Given the description of an element on the screen output the (x, y) to click on. 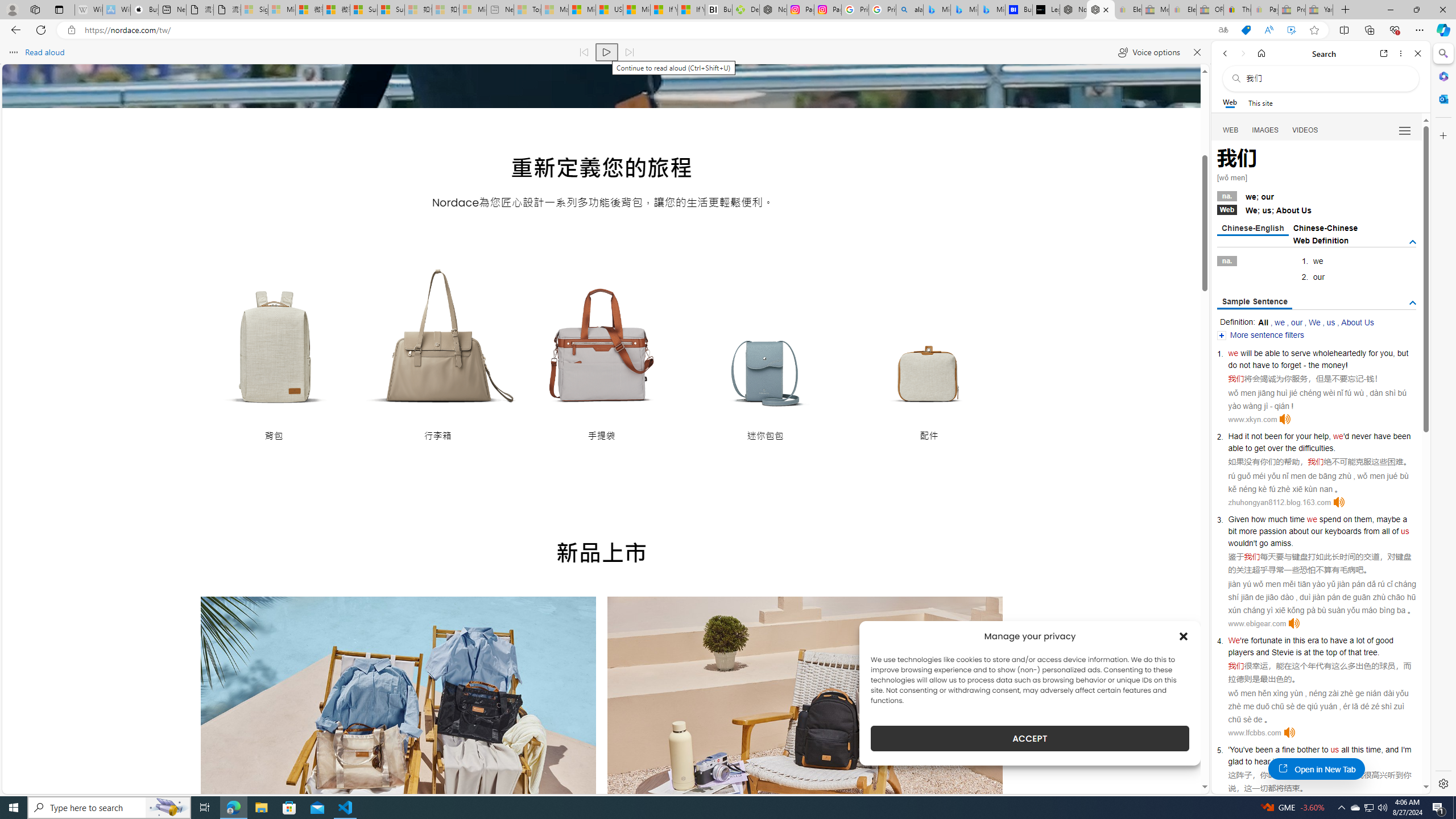
be (1258, 352)
US Heat Deaths Soared To Record High Last Year (609, 9)
for (1372, 352)
Class: cmplz-close (1183, 636)
We (1233, 640)
serve (1300, 352)
